Given the description of an element on the screen output the (x, y) to click on. 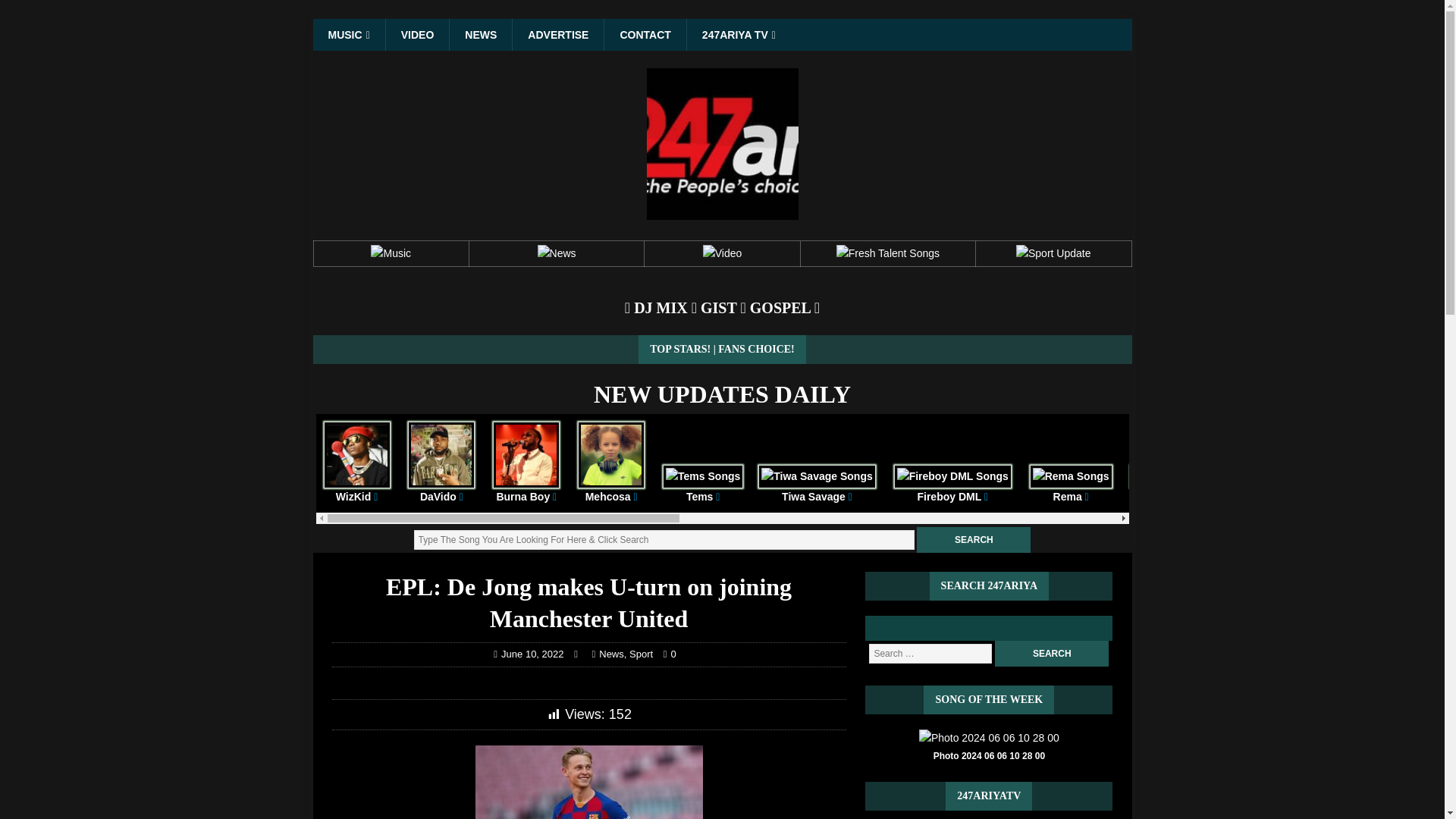
Simi (1167, 484)
CONTACT (644, 34)
Tiwa Savage (816, 484)
Fireboy DML (952, 484)
VIDEO (417, 34)
ADVERTISE (558, 34)
247ARIYA TV (737, 34)
Search (973, 539)
DJ MIX (660, 307)
MUSIC (348, 34)
